Given the description of an element on the screen output the (x, y) to click on. 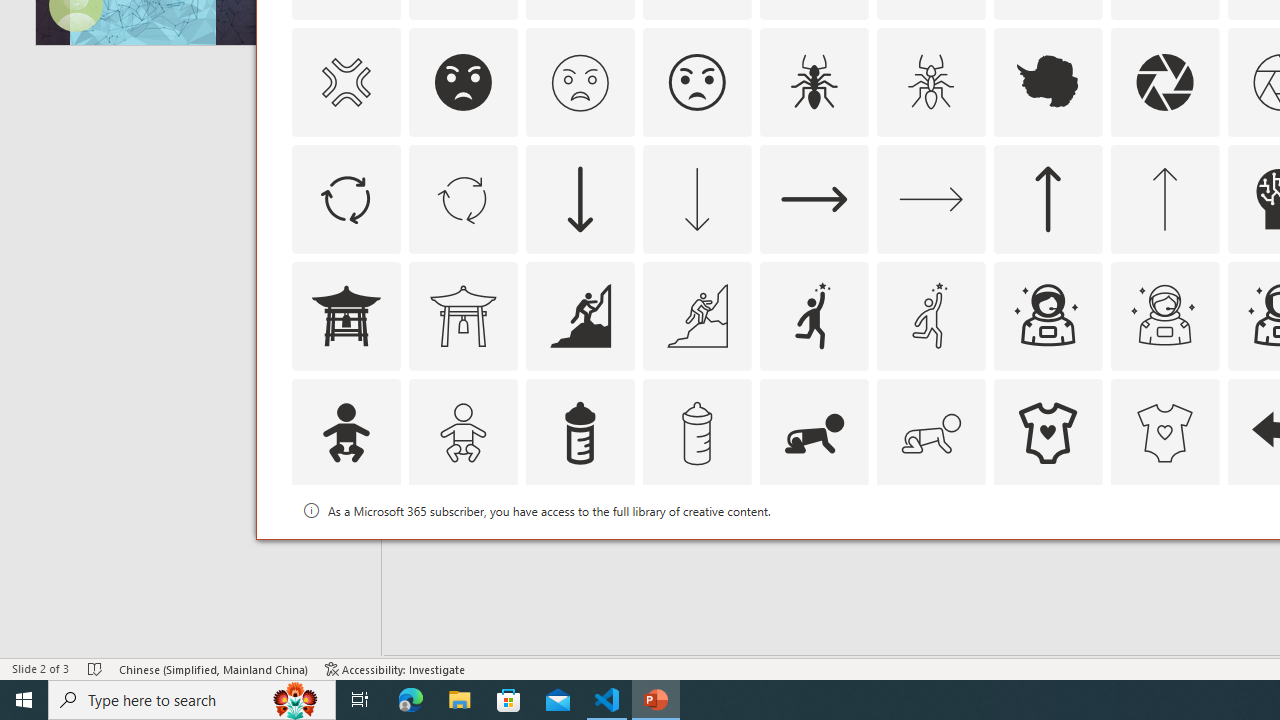
AutomationID: Icons_Aperture (1164, 82)
AutomationID: Icons_Badge2 (463, 550)
AutomationID: Icons_ArrowUp_M (1164, 198)
AutomationID: Icons_ArrowDown_M (696, 198)
AutomationID: Icons_AngryFace_M (579, 82)
AutomationID: Icons_ArrowCircle (345, 198)
AutomationID: Icons_Badge4 (930, 550)
AutomationID: Icons_ArrowRight (813, 198)
